Given the description of an element on the screen output the (x, y) to click on. 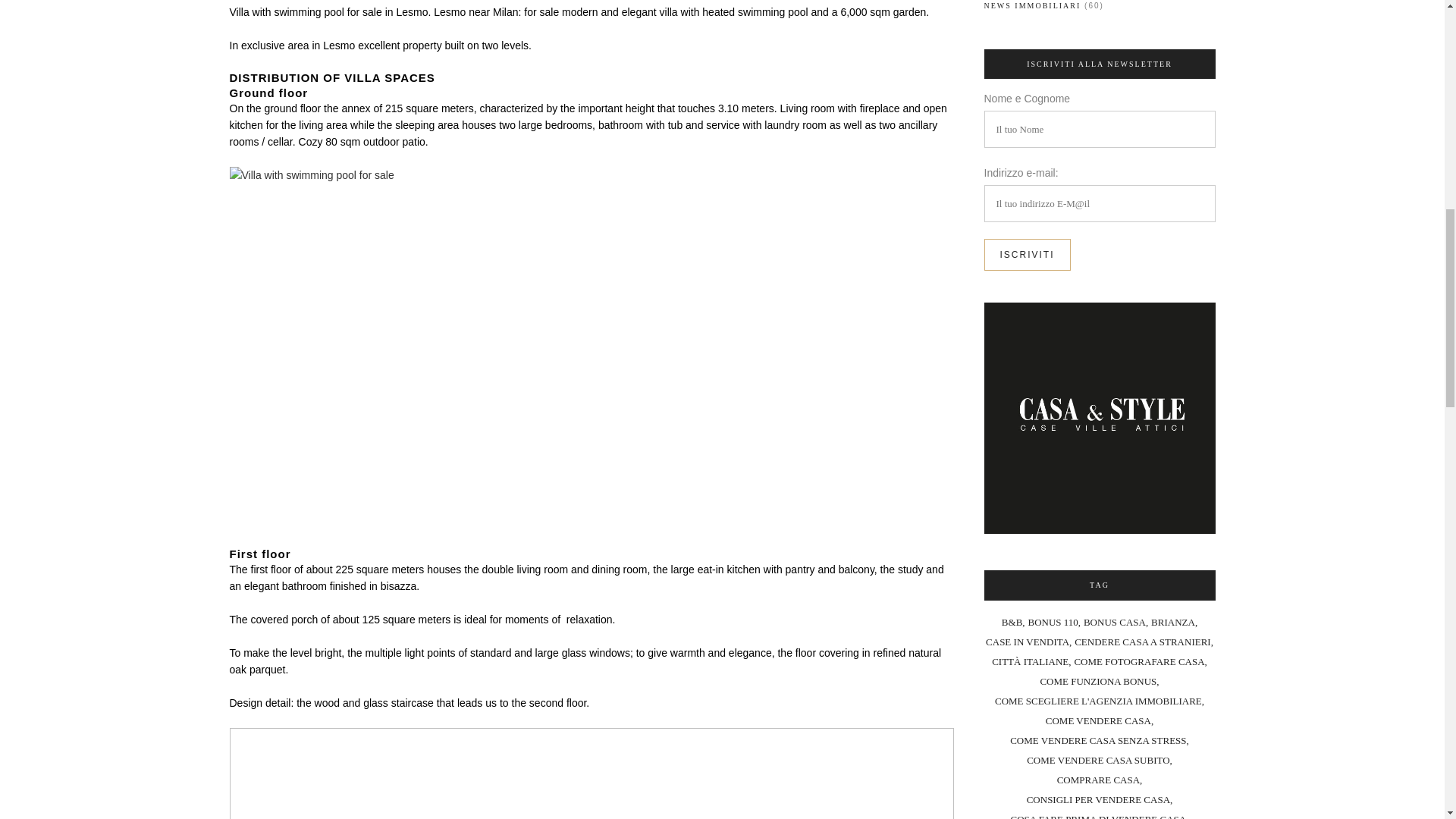
Iscriviti (1027, 255)
